Given the description of an element on the screen output the (x, y) to click on. 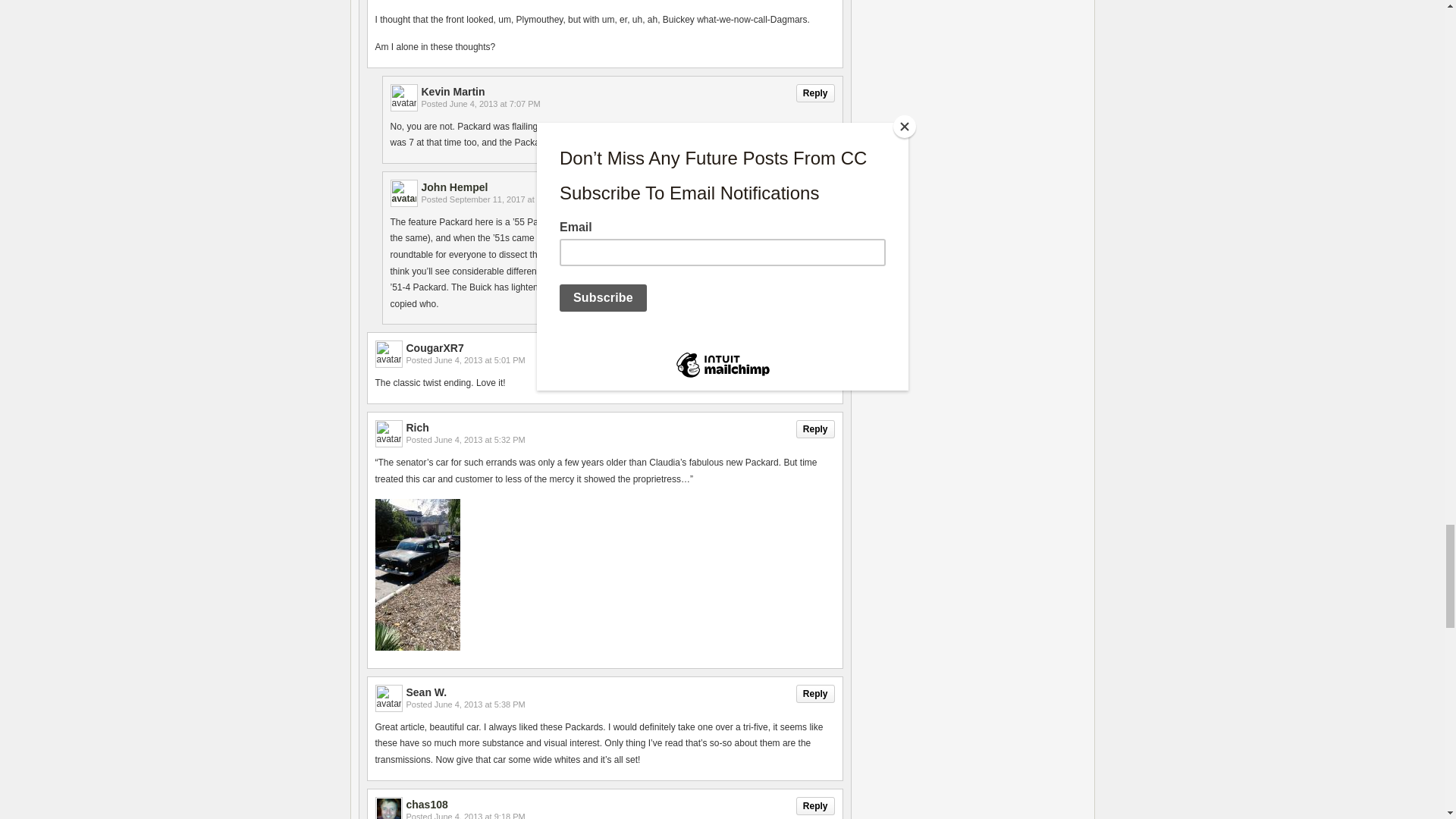
2013-06-04T19:07:56-07:00 (494, 103)
2017-09-11T06:33:29-07:00 (508, 198)
